Given the description of an element on the screen output the (x, y) to click on. 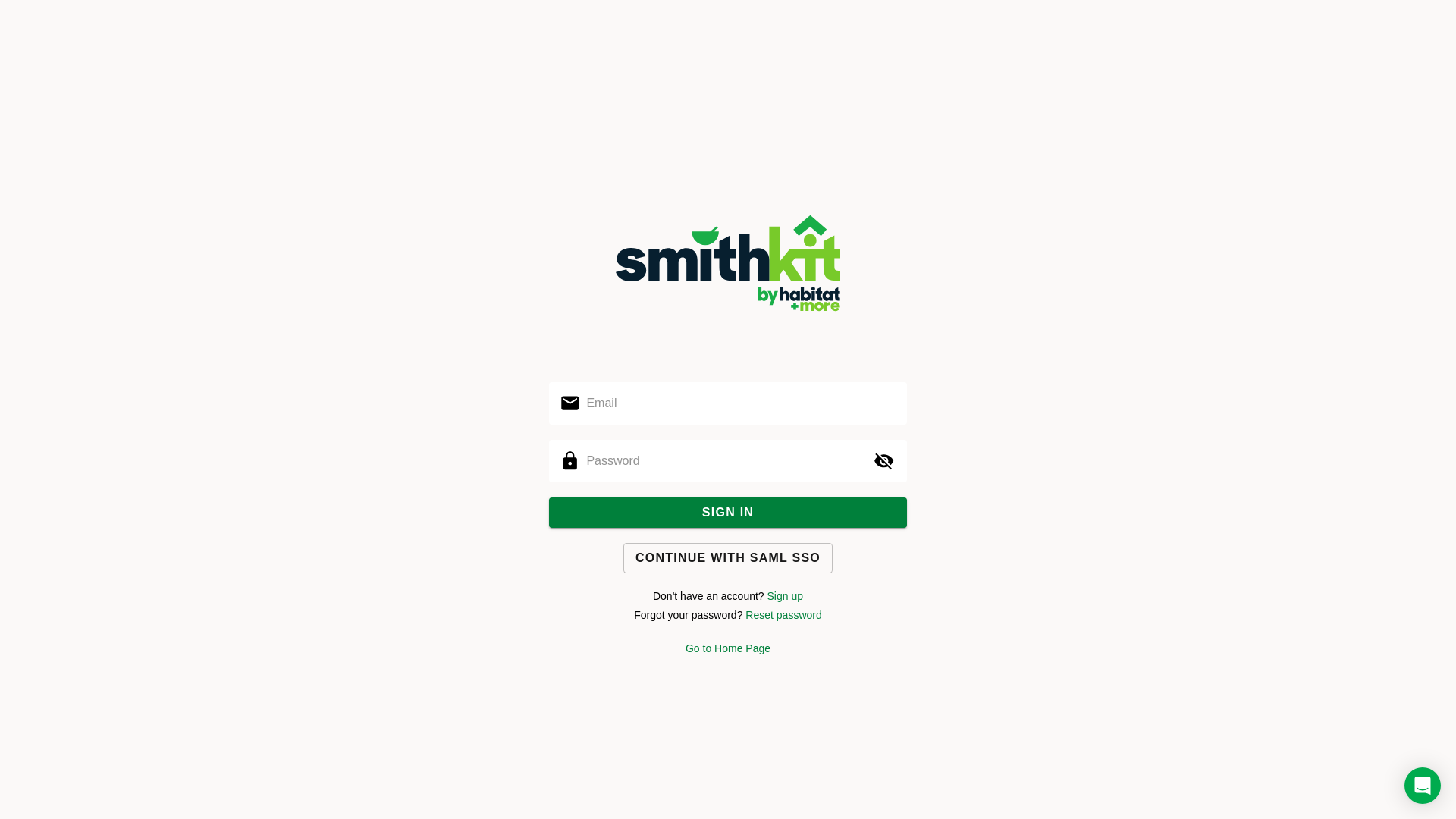
Sign up Element type: text (785, 595)
Reset password Element type: text (783, 614)
CONTINUE WITH SAML SSO Element type: text (727, 557)
SIGN IN Element type: text (727, 512)
Go to Home Page Element type: text (727, 648)
CONTINUE WITH SAML SSO Element type: text (727, 557)
